Given the description of an element on the screen output the (x, y) to click on. 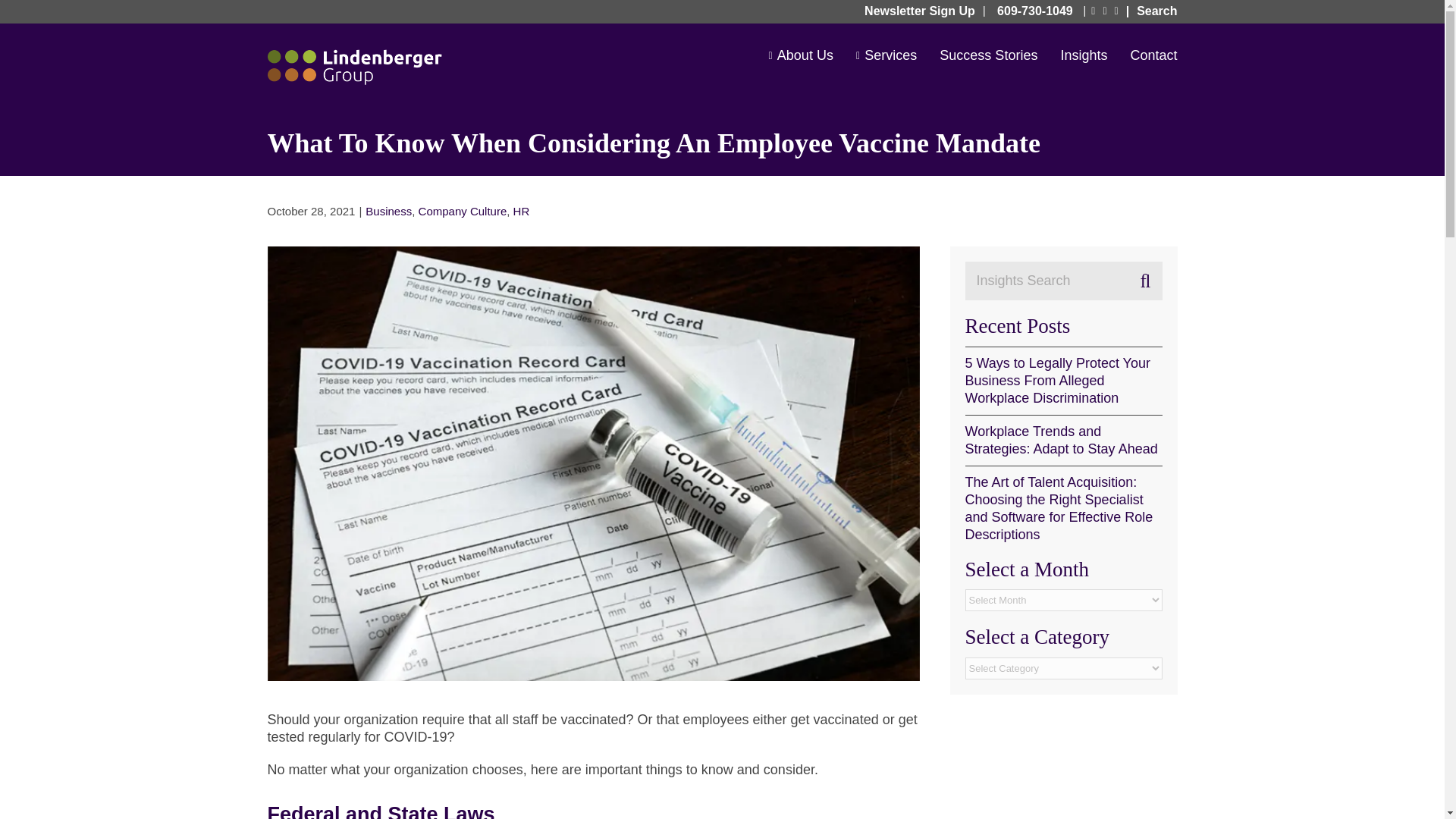
HR (521, 210)
Company Culture (462, 210)
Business (388, 210)
About Us (800, 54)
Services (886, 54)
Workplace Trends and Strategies: Adapt to Stay Ahead (1060, 440)
Success Stories (987, 54)
Newsletter Sign Up (923, 10)
